Given the description of an element on the screen output the (x, y) to click on. 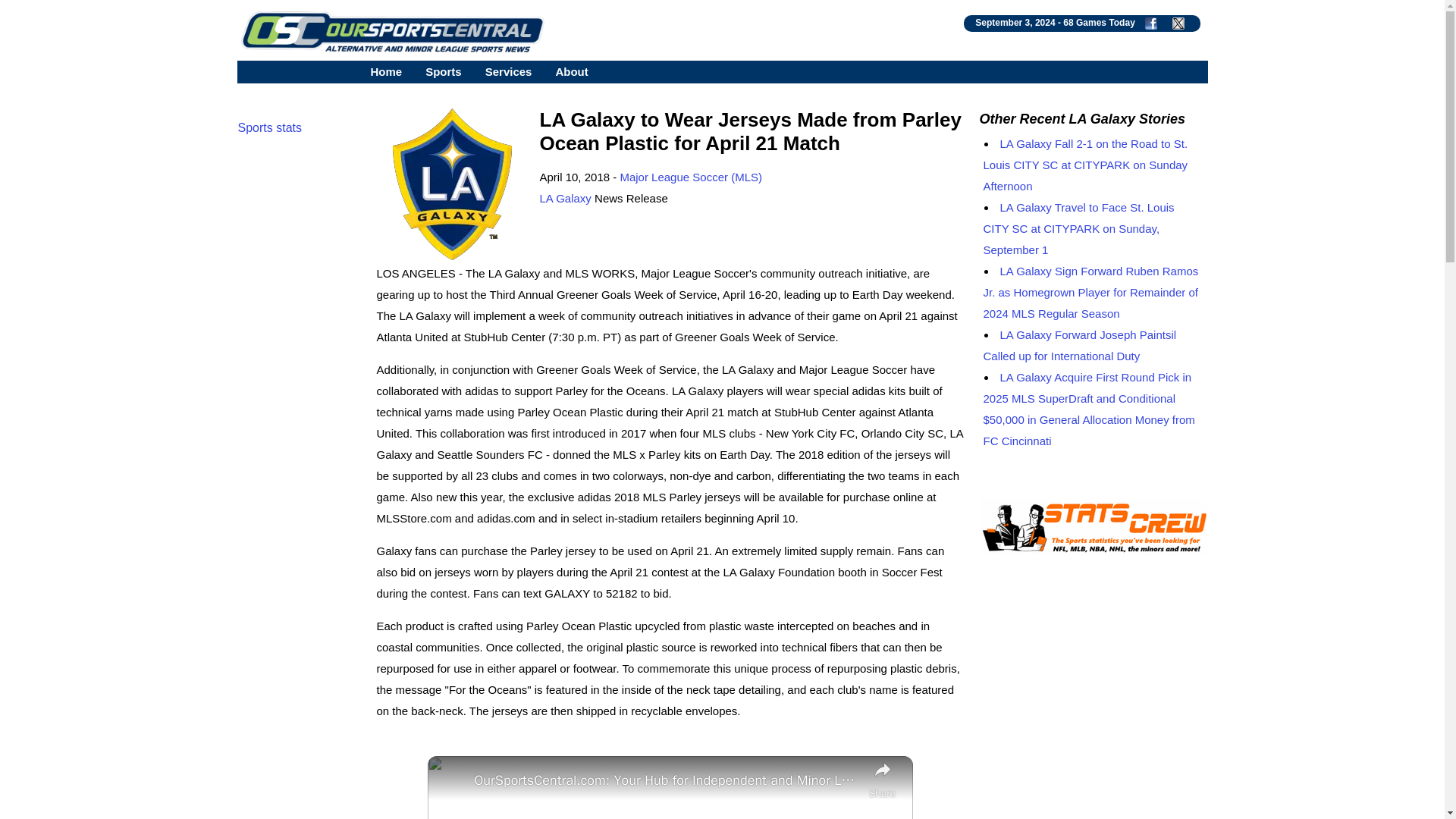
Home (385, 71)
68 Games Today (1098, 22)
LA Galaxy (565, 197)
Sports stats (269, 127)
